Given the description of an element on the screen output the (x, y) to click on. 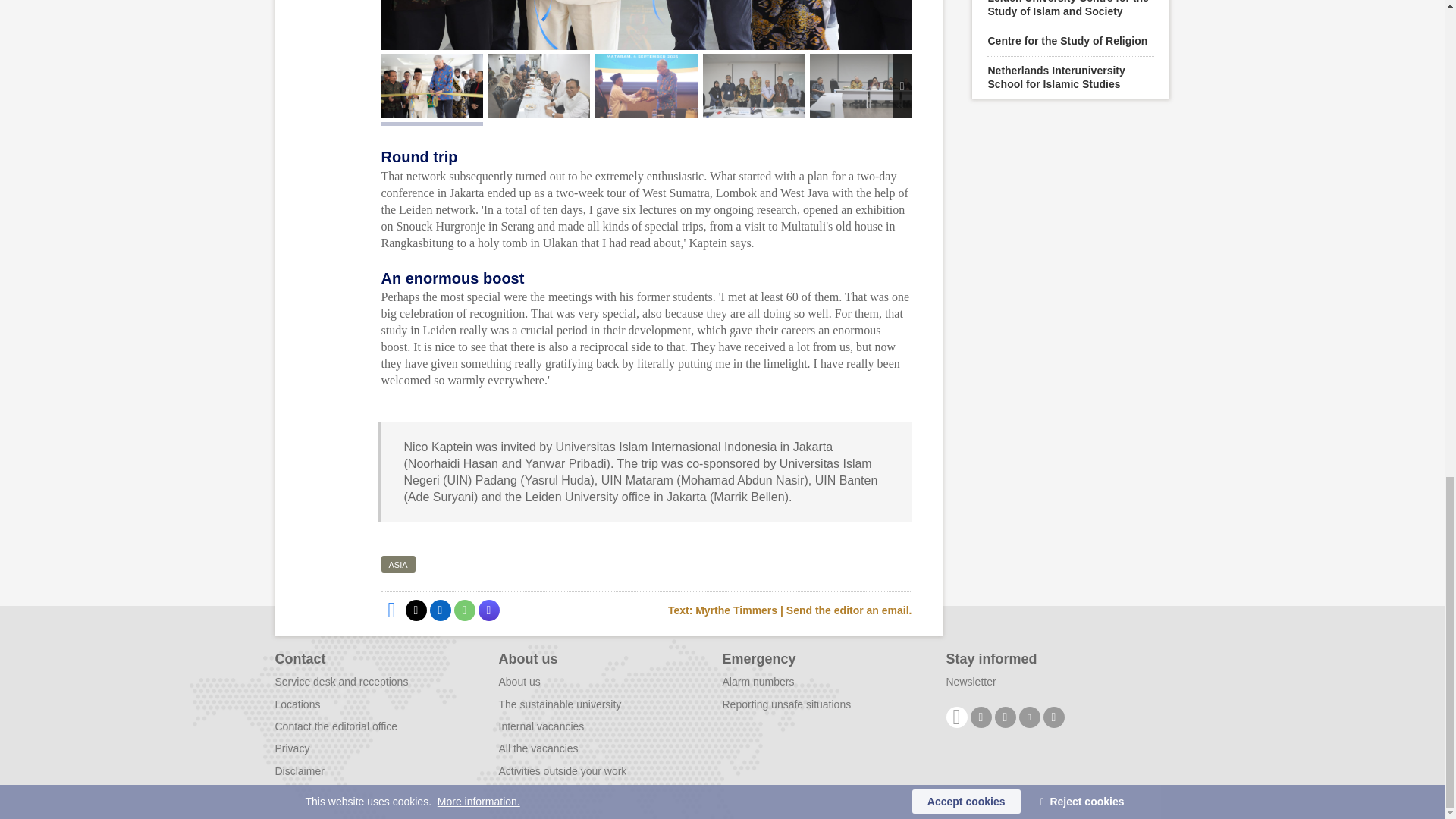
Share by WhatsApp (463, 609)
Share on LinkedIn (439, 609)
Share on Facebook (390, 609)
Share on X (415, 609)
Share by Mastodon (488, 609)
